Given the description of an element on the screen output the (x, y) to click on. 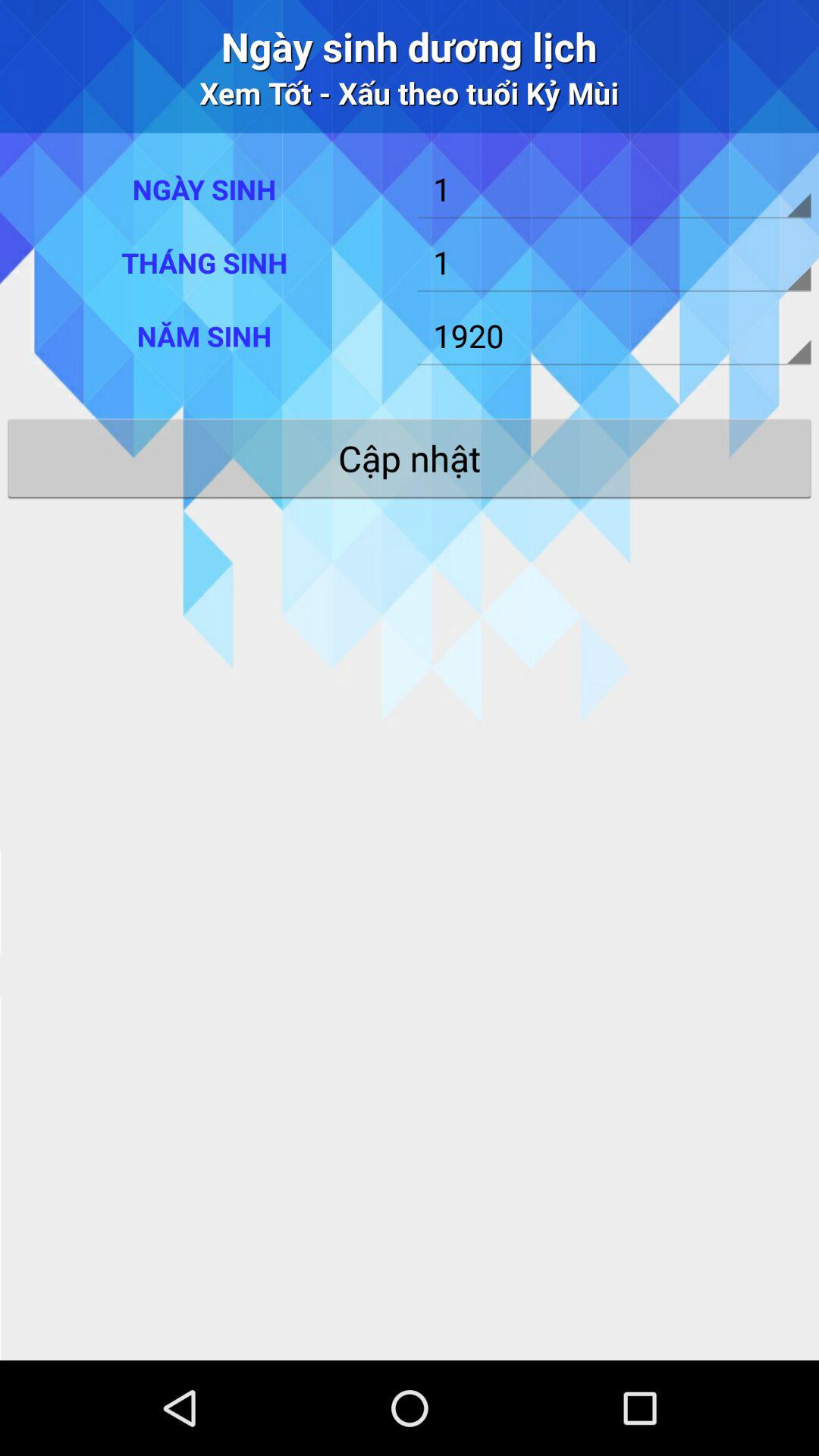
launch the app below 1920 icon (409, 458)
